Given the description of an element on the screen output the (x, y) to click on. 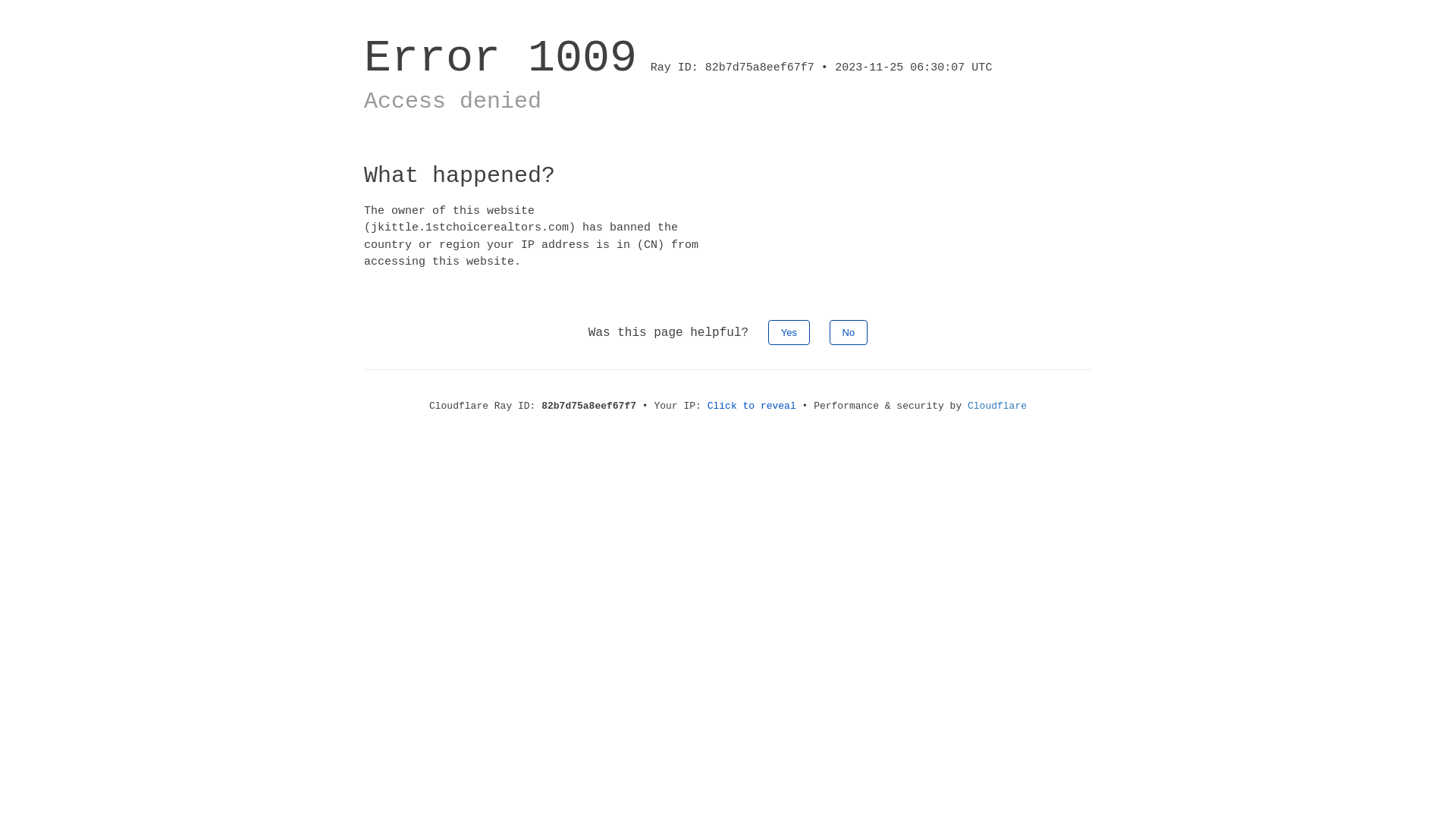
Cloudflare Element type: text (996, 405)
No Element type: text (848, 332)
Yes Element type: text (788, 332)
Click to reveal Element type: text (751, 405)
